Given the description of an element on the screen output the (x, y) to click on. 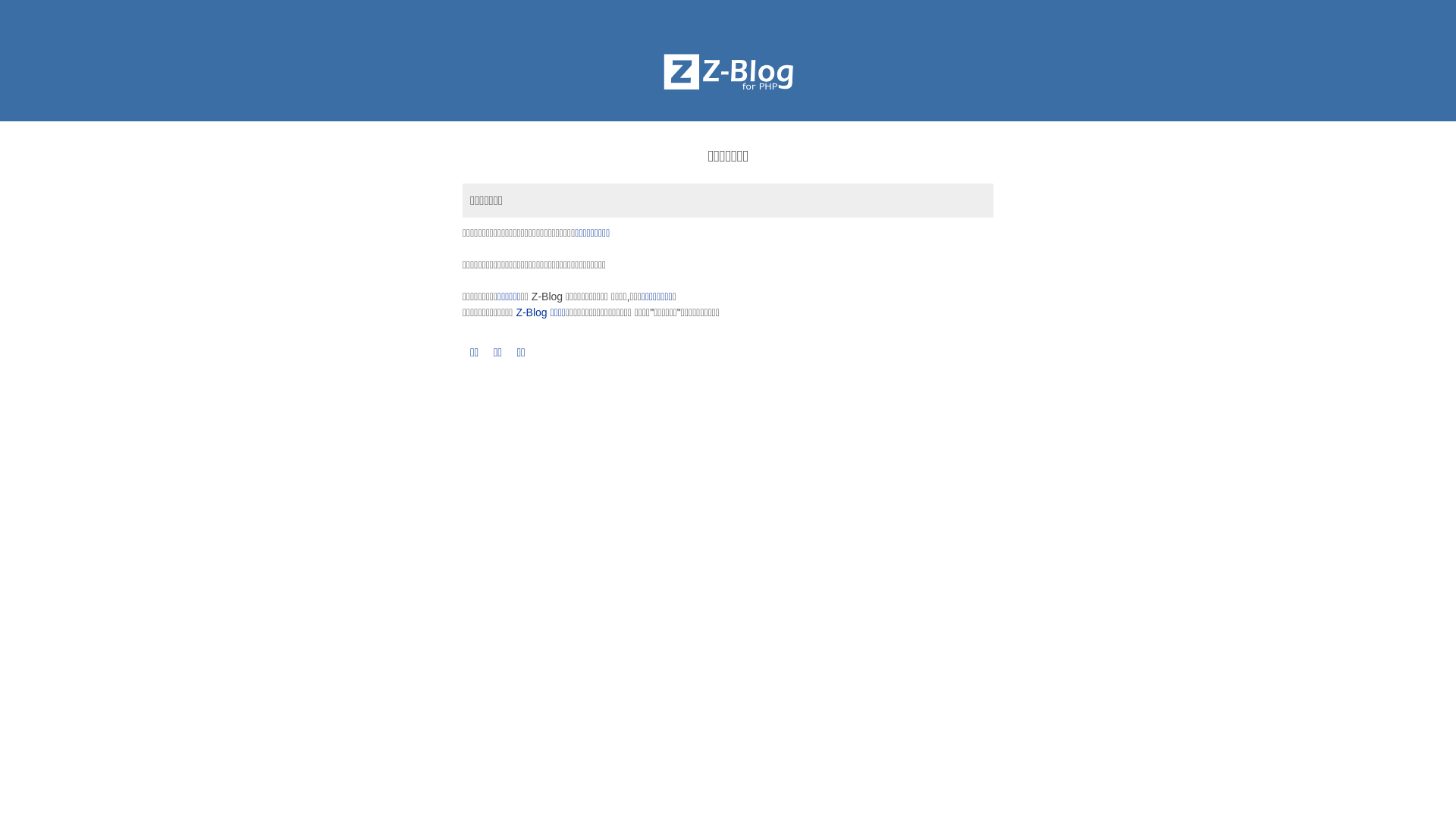
Z-BlogPHP Element type: hover (727, 71)
